Given the description of an element on the screen output the (x, y) to click on. 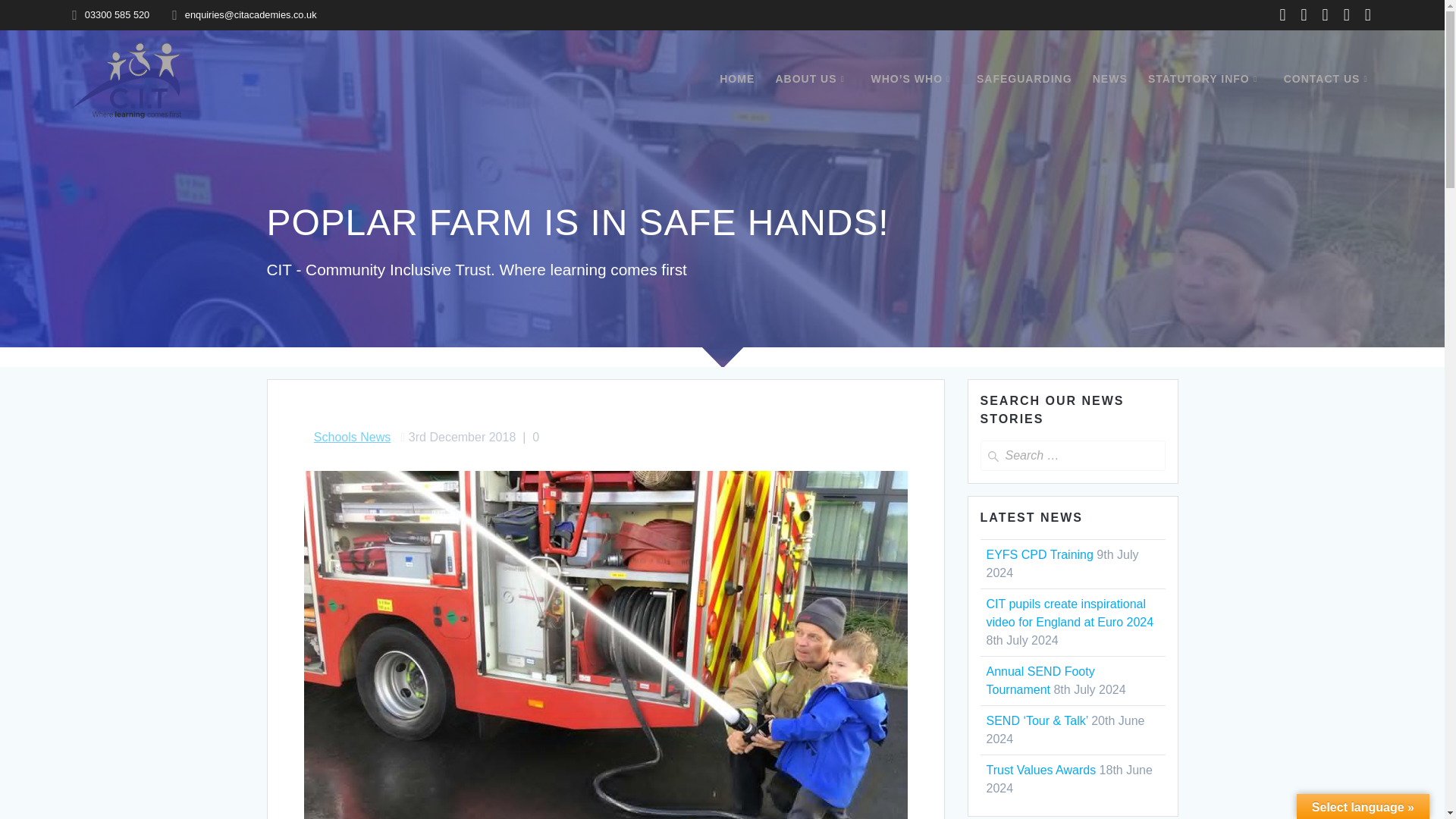
CONTACT US (1329, 79)
HOME (736, 79)
SAFEGUARDING (1023, 79)
NEWS (1109, 79)
ABOUT US (812, 79)
STATUTORY INFO (1205, 79)
